Given the description of an element on the screen output the (x, y) to click on. 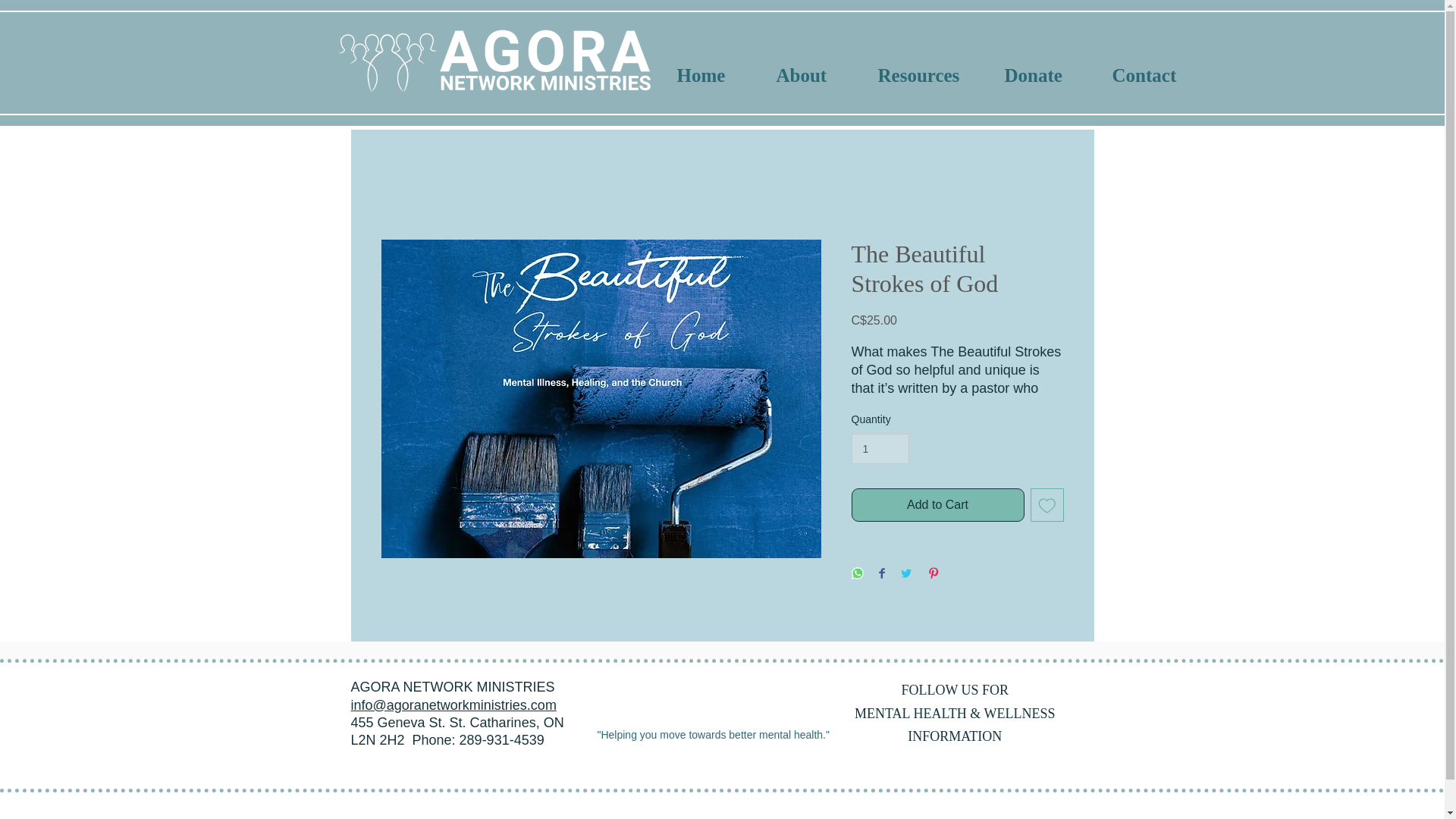
Contact (1160, 75)
Home (718, 75)
About (819, 75)
Add to Cart (936, 504)
Donate (1049, 75)
1 (879, 449)
